Given the description of an element on the screen output the (x, y) to click on. 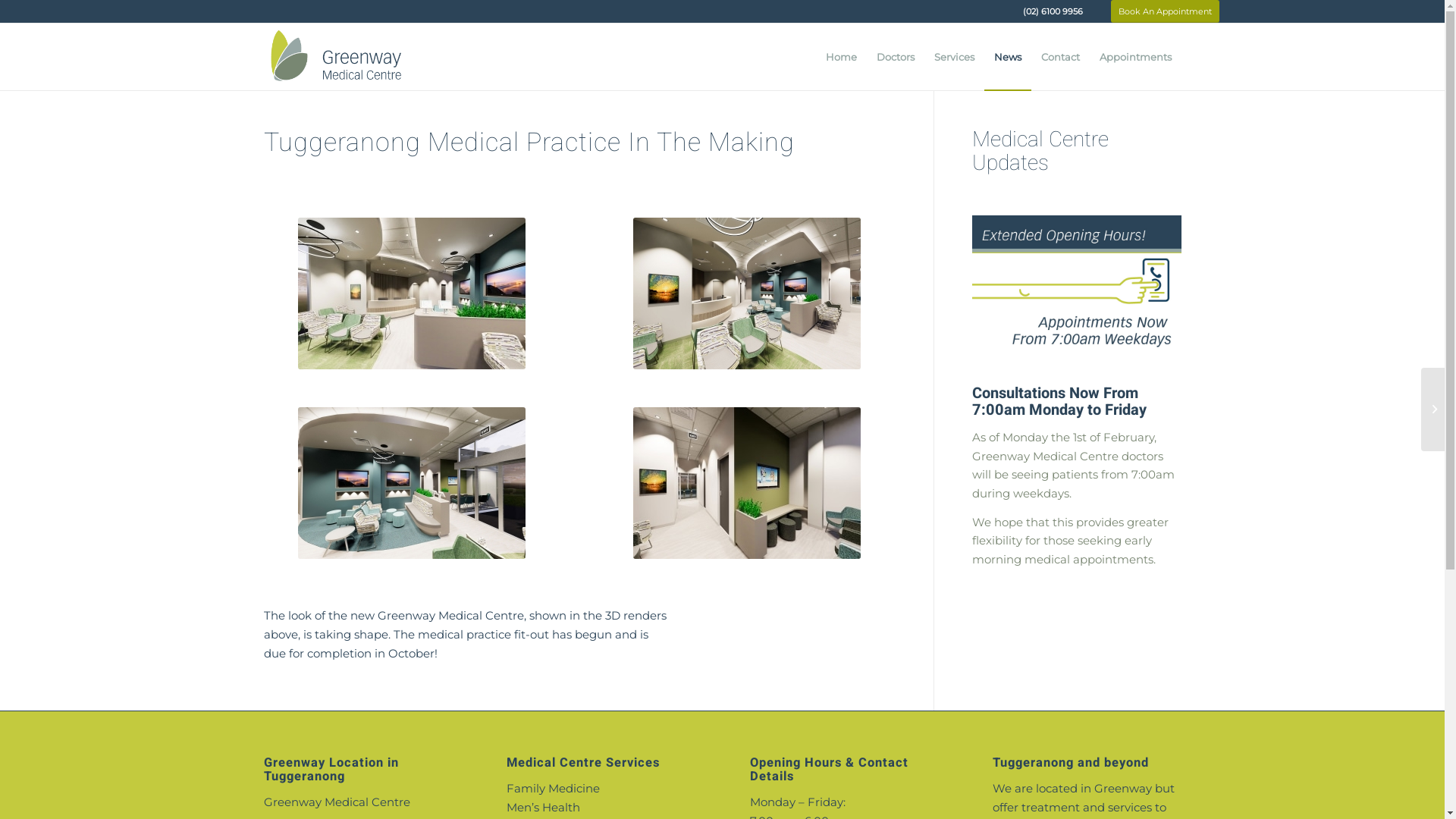
Doctors Element type: text (894, 56)
Book An Appointment Element type: text (1164, 11)
Home Element type: text (840, 56)
News Element type: text (1007, 56)
Appointments Element type: text (1134, 56)
Contact Element type: text (1060, 56)
Services Element type: text (953, 56)
